Given the description of an element on the screen output the (x, y) to click on. 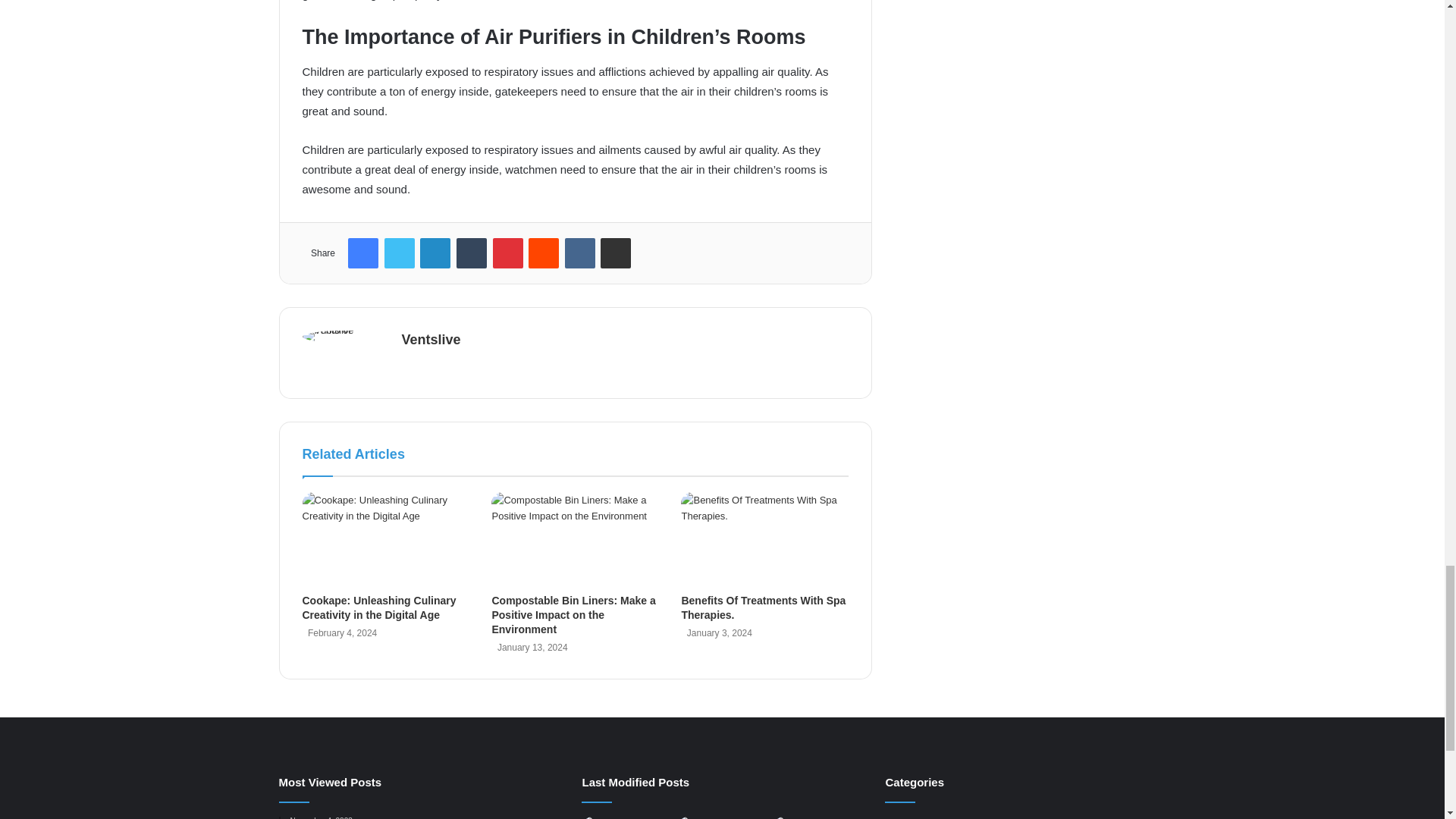
Facebook (362, 253)
VKontakte (579, 253)
Pinterest (507, 253)
Share via Email (614, 253)
Reddit (543, 253)
Twitter (399, 253)
Tumblr (471, 253)
Twitter (399, 253)
LinkedIn (434, 253)
Facebook (362, 253)
